Given the description of an element on the screen output the (x, y) to click on. 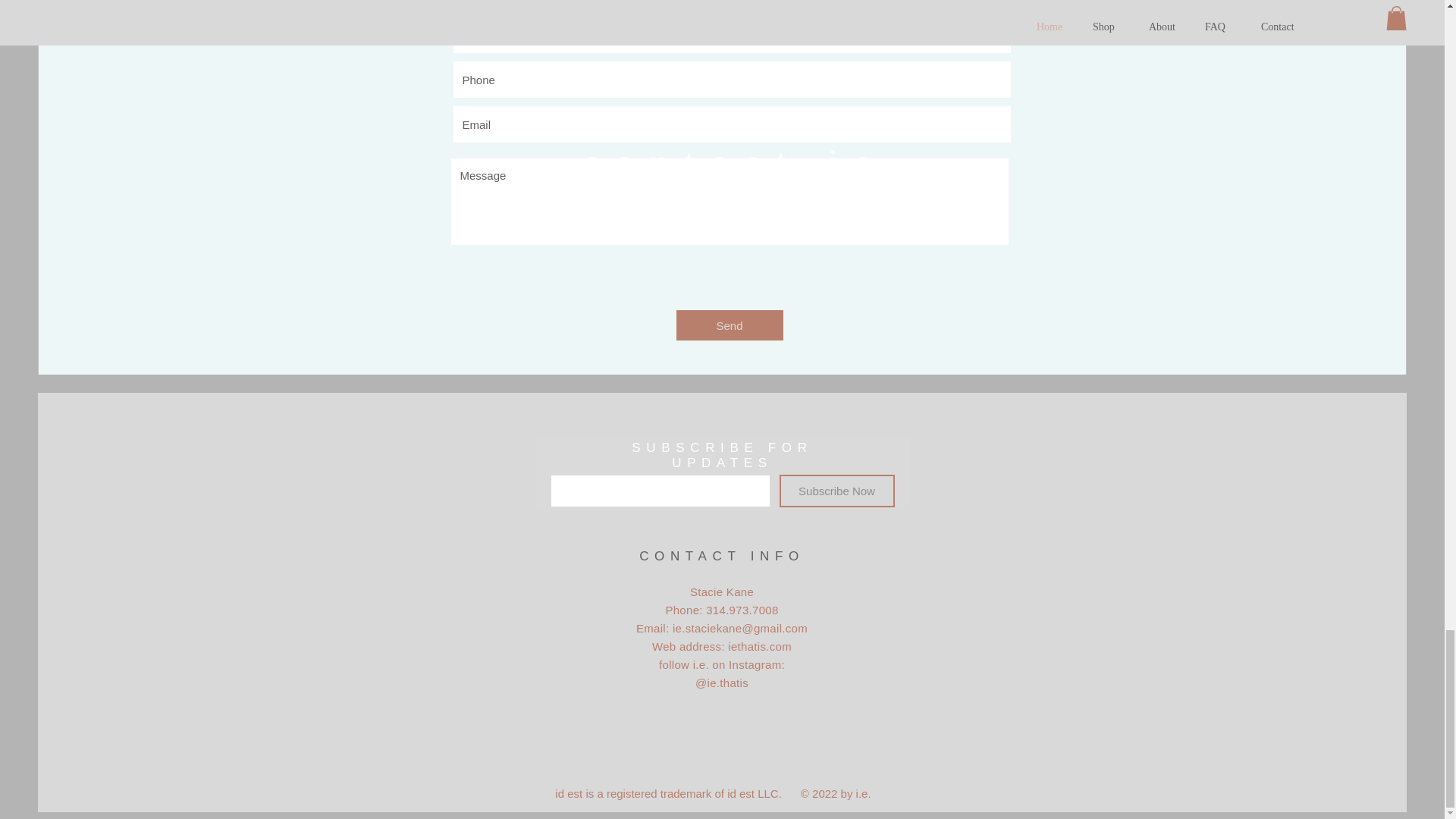
Subscribe Now (836, 490)
Send (730, 325)
